Given the description of an element on the screen output the (x, y) to click on. 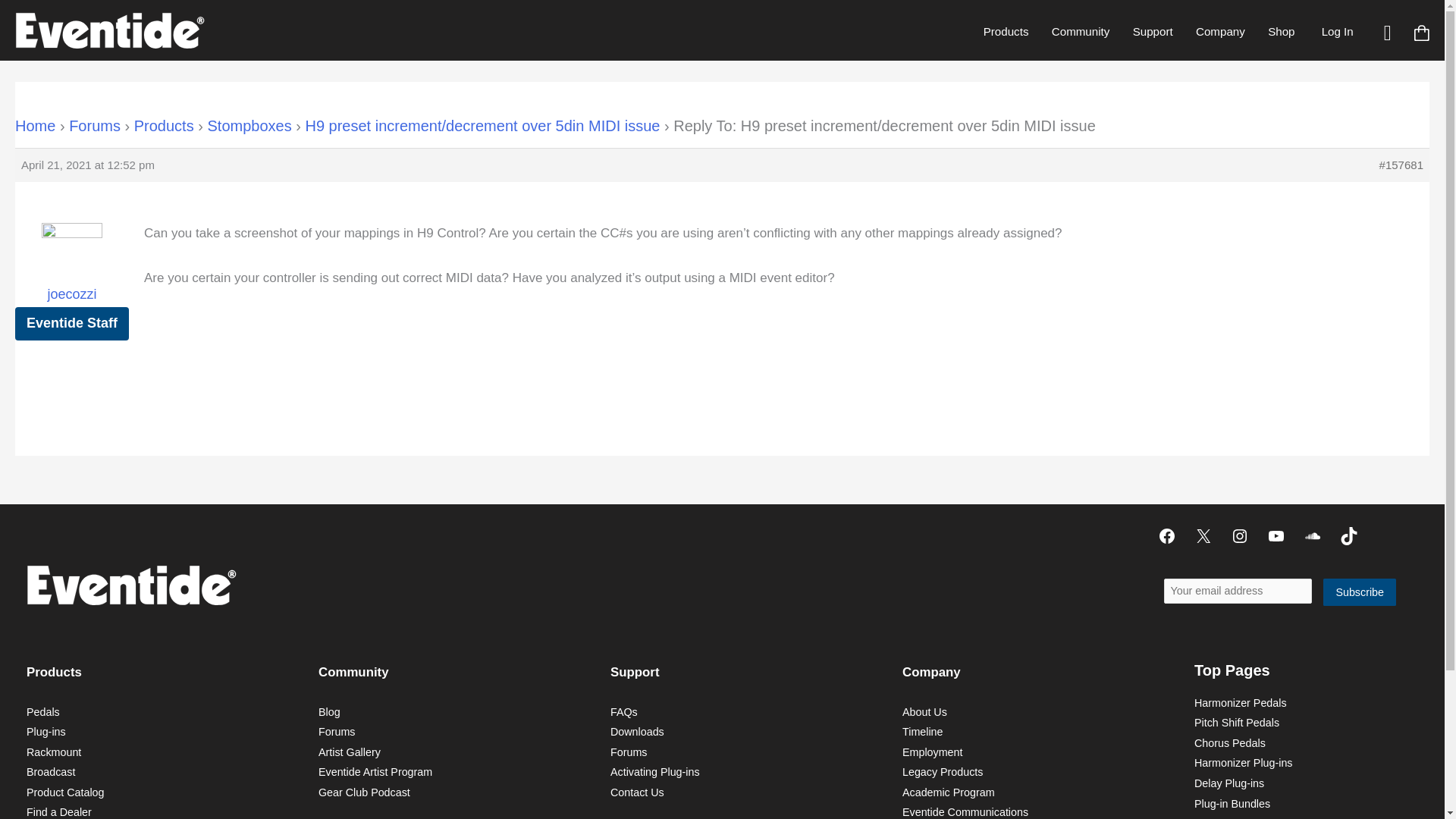
Company (1220, 31)
Support (1152, 31)
Shop (1281, 31)
Products (1006, 31)
View joecozzi's profile (71, 273)
Community (1081, 31)
Log In (1337, 31)
eventide-logo-white (130, 584)
Subscribe (1359, 592)
